Given the description of an element on the screen output the (x, y) to click on. 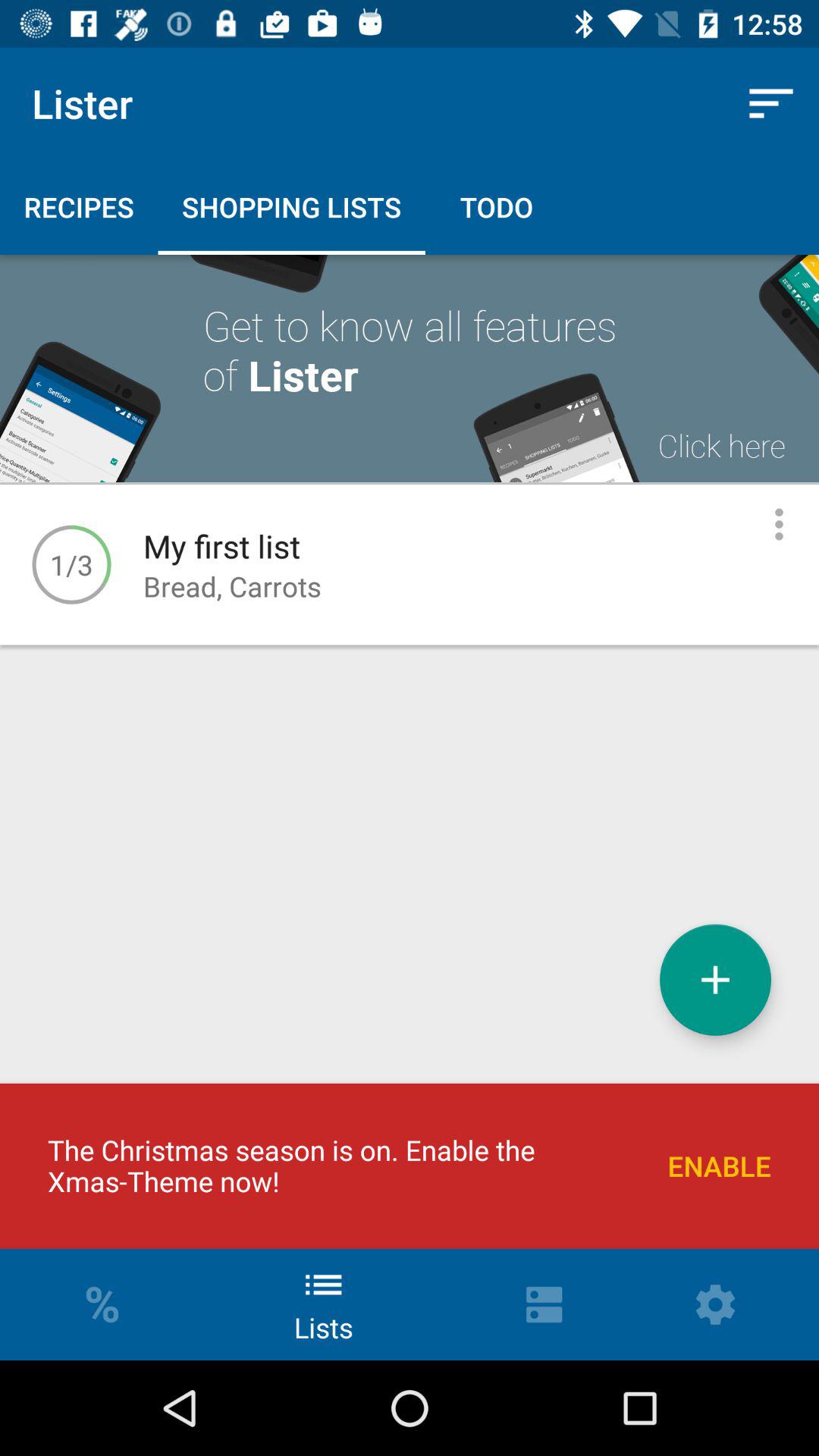
open the icon at the top right corner (771, 103)
